Given the description of an element on the screen output the (x, y) to click on. 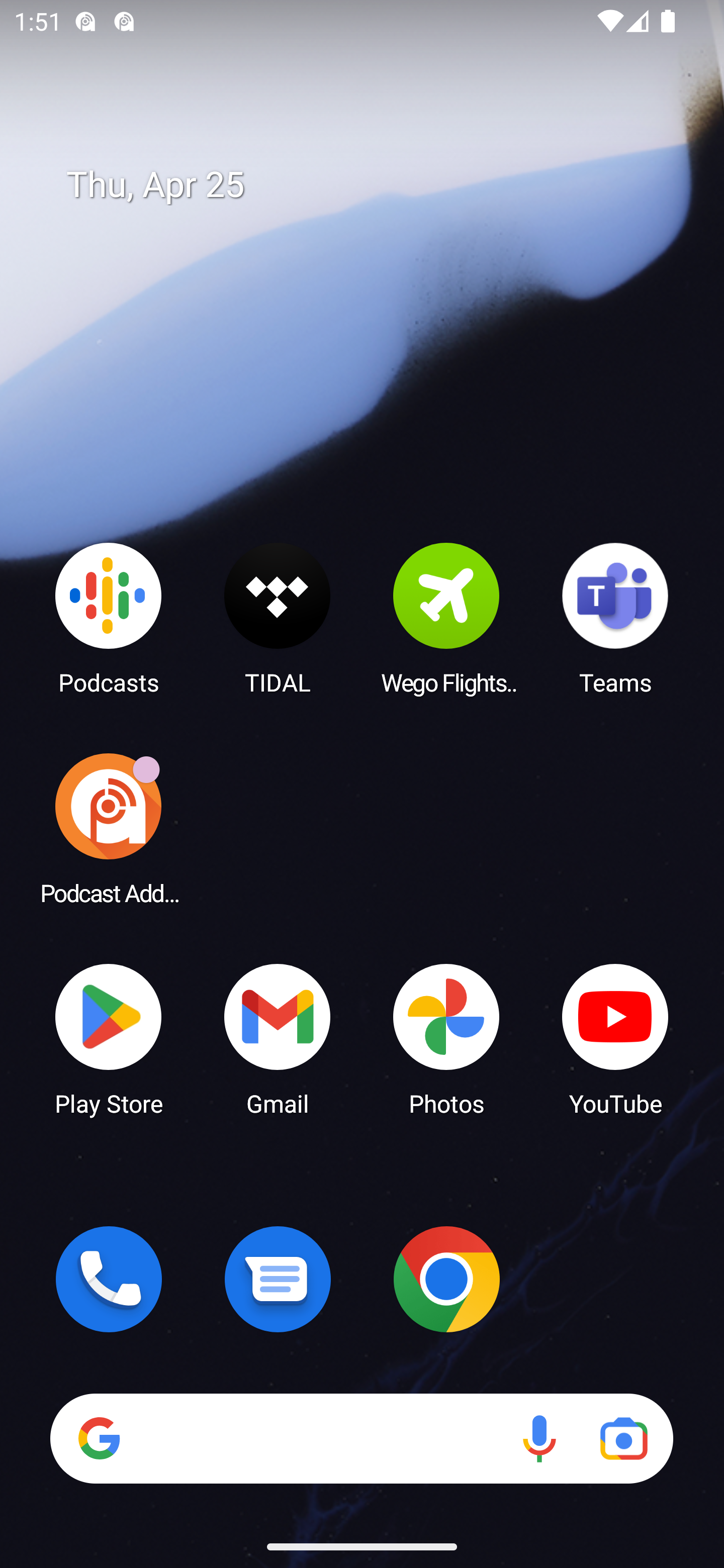
Thu, Apr 25 (375, 184)
Podcasts (108, 617)
TIDAL (277, 617)
Wego Flights & Hotels (445, 617)
Teams (615, 617)
Play Store (108, 1038)
Gmail (277, 1038)
Photos (445, 1038)
YouTube (615, 1038)
Phone (108, 1279)
Messages (277, 1279)
Chrome (446, 1279)
Search Voice search Google Lens (361, 1438)
Voice search (539, 1438)
Google Lens (623, 1438)
